Given the description of an element on the screen output the (x, y) to click on. 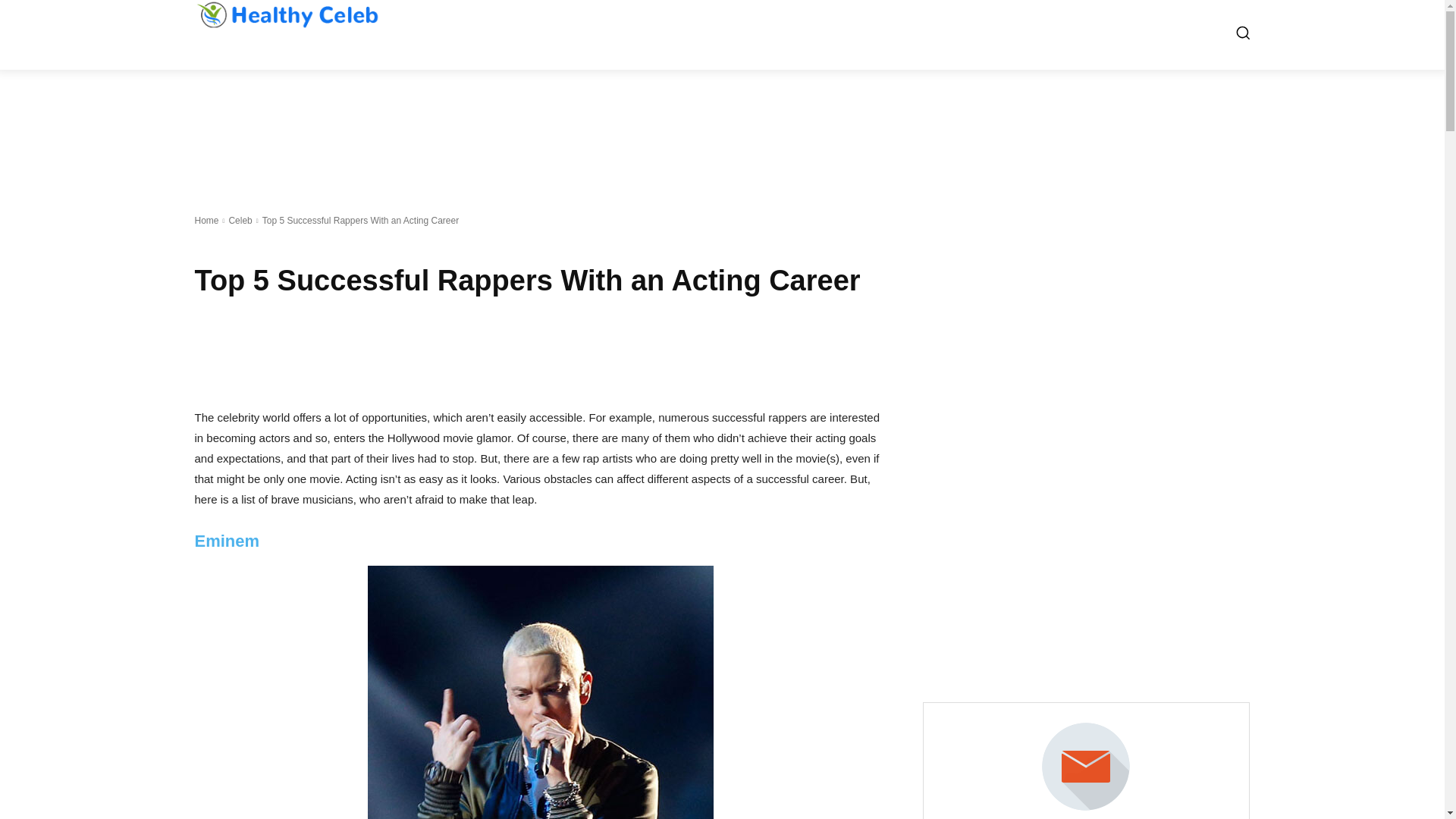
Healthy Celeb (285, 14)
View all posts in Celeb (239, 220)
